Given the description of an element on the screen output the (x, y) to click on. 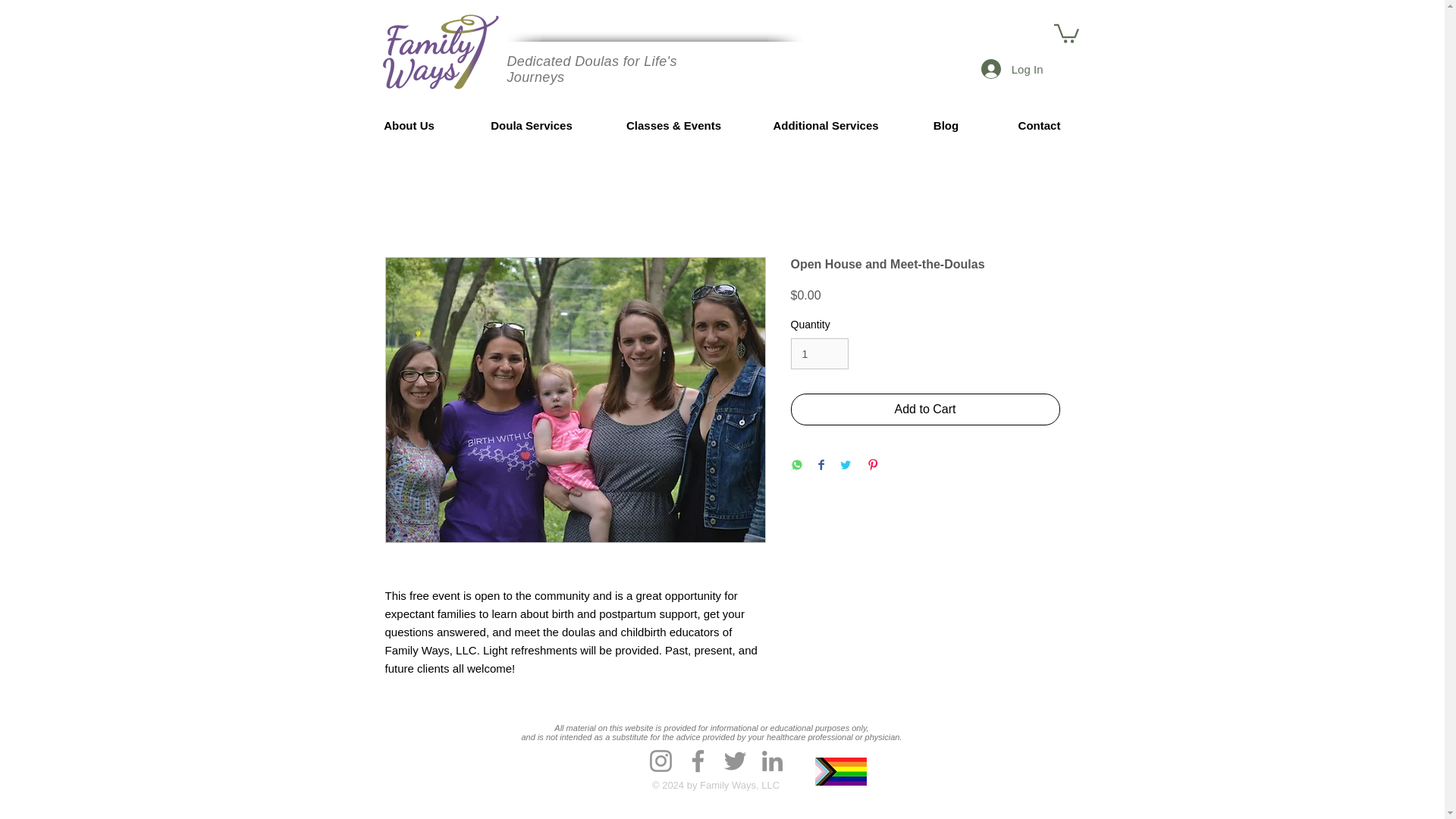
Contact (1039, 125)
Add to Cart (924, 409)
Blog (946, 125)
Log In (1012, 68)
Doula Services (531, 125)
1 (818, 353)
About Us (409, 125)
Additional Services (825, 125)
Dedicated Doulas for Life's Journeys (591, 69)
2016-03-21 New Logo.png (439, 50)
